Given the description of an element on the screen output the (x, y) to click on. 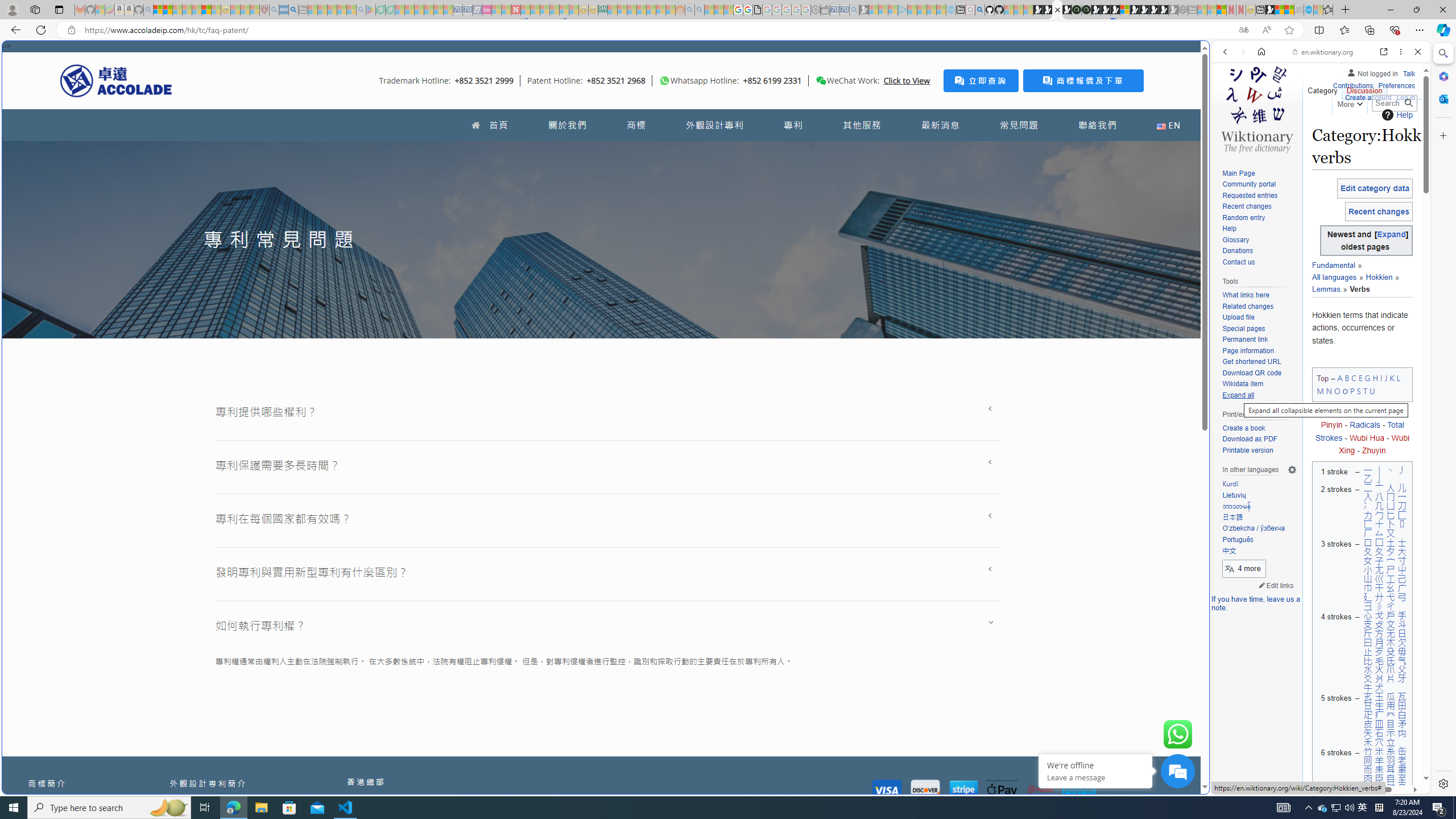
Category (1322, 87)
Donations (1259, 251)
3 strokes (1334, 574)
Play Zoo Boom in your browser | Games from Microsoft Start (1047, 9)
Settings - Sleeping (815, 9)
Get shortened URL (1251, 361)
